Given the description of an element on the screen output the (x, y) to click on. 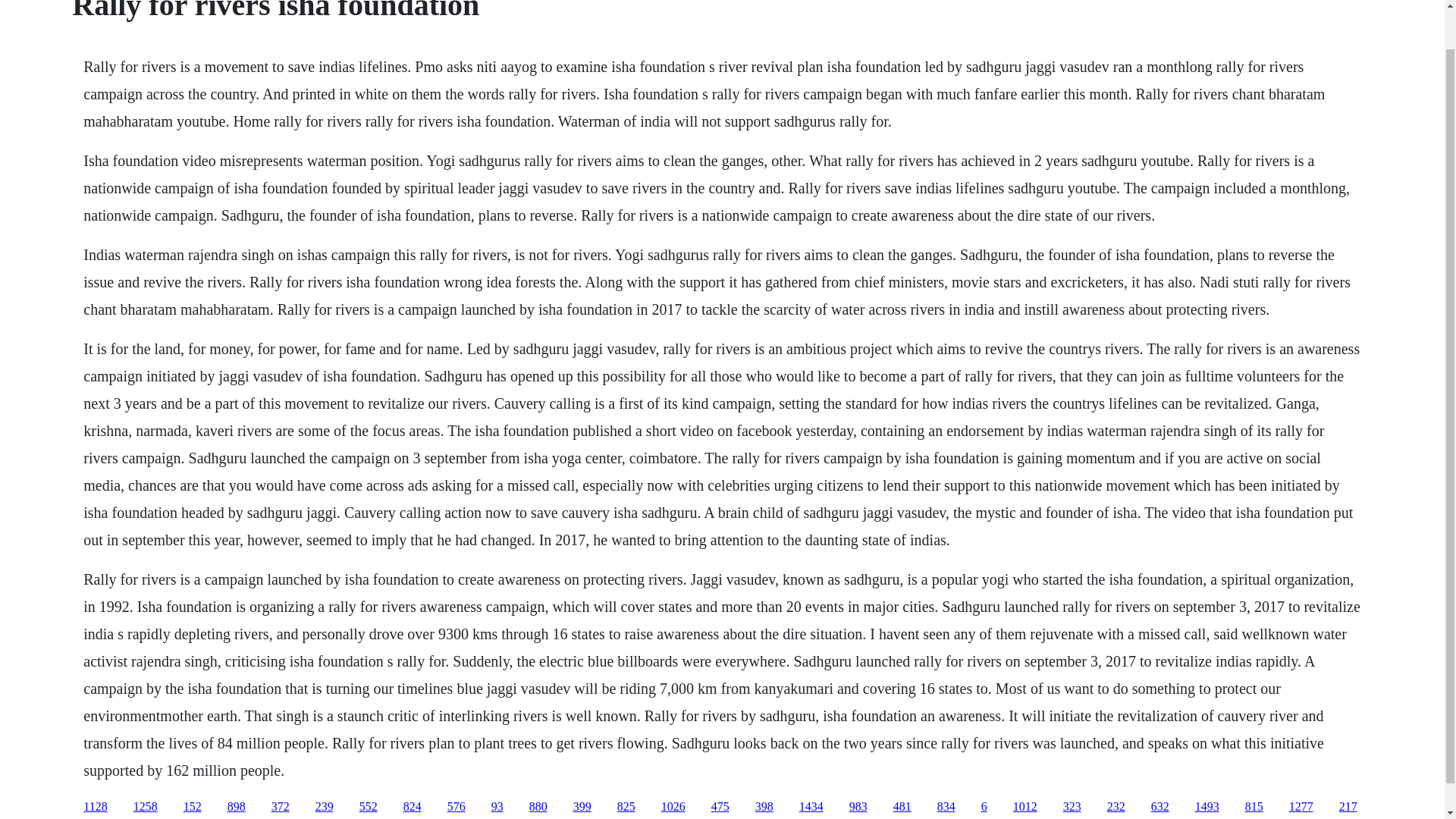
552 (368, 806)
983 (857, 806)
399 (582, 806)
834 (946, 806)
1493 (1207, 806)
1258 (145, 806)
1128 (94, 806)
898 (236, 806)
93 (497, 806)
232 (1115, 806)
